Given the description of an element on the screen output the (x, y) to click on. 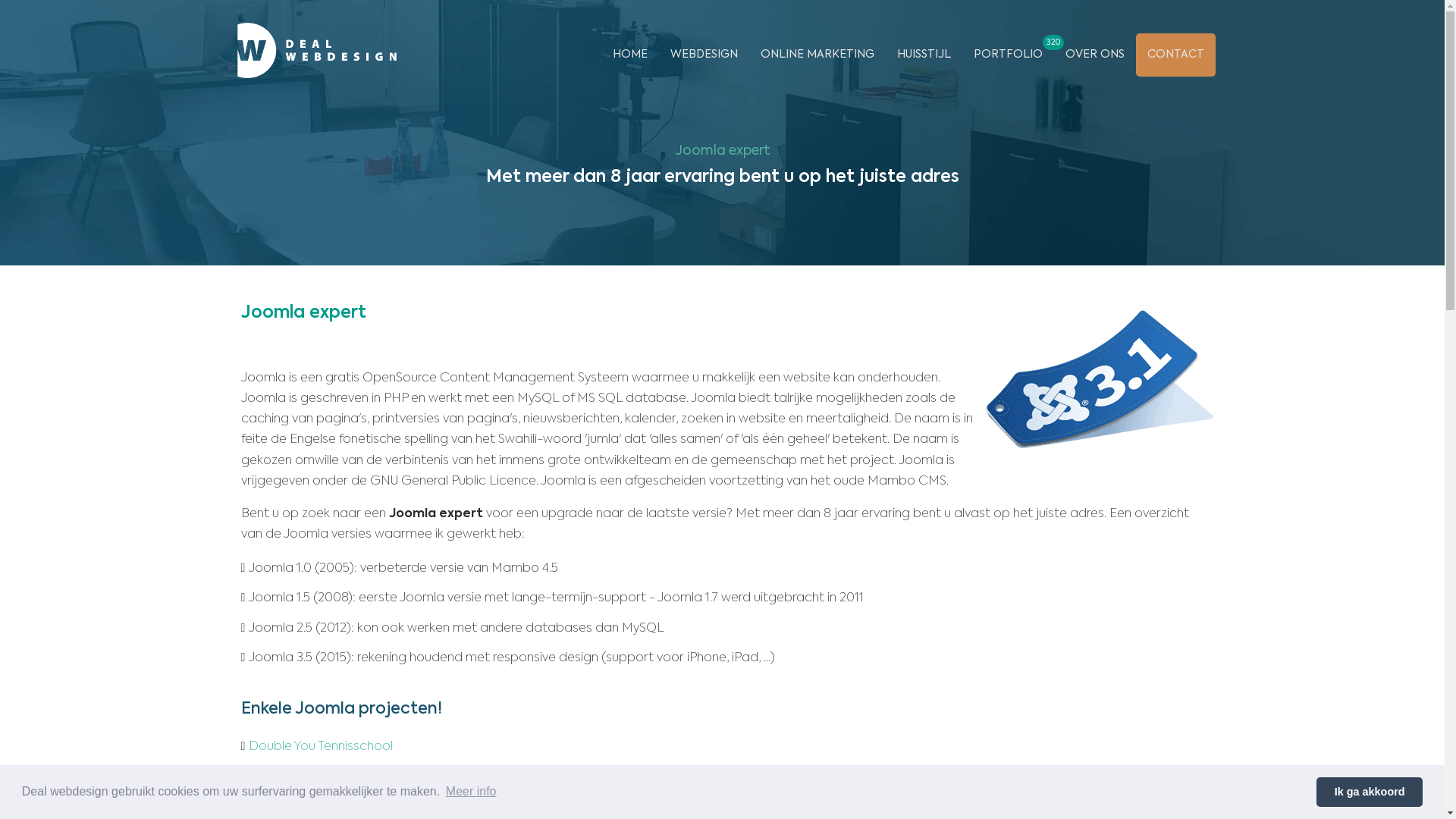
Ceremoniemeester Wen Element type: text (320, 776)
Ik ga akkoord Element type: text (1369, 791)
Meer info Element type: text (470, 791)
PORTFOLIO
320 Element type: text (1007, 54)
OVER ONS Element type: text (1094, 54)
HOME Element type: text (629, 54)
ONLINE MARKETING Element type: text (817, 54)
Double You Tennisschool Element type: text (320, 746)
CONTACT Element type: text (1175, 54)
HUISSTIJL Element type: text (923, 54)
Grip vzw Element type: text (273, 806)
WEBDESIGN Element type: text (703, 54)
